Given the description of an element on the screen output the (x, y) to click on. 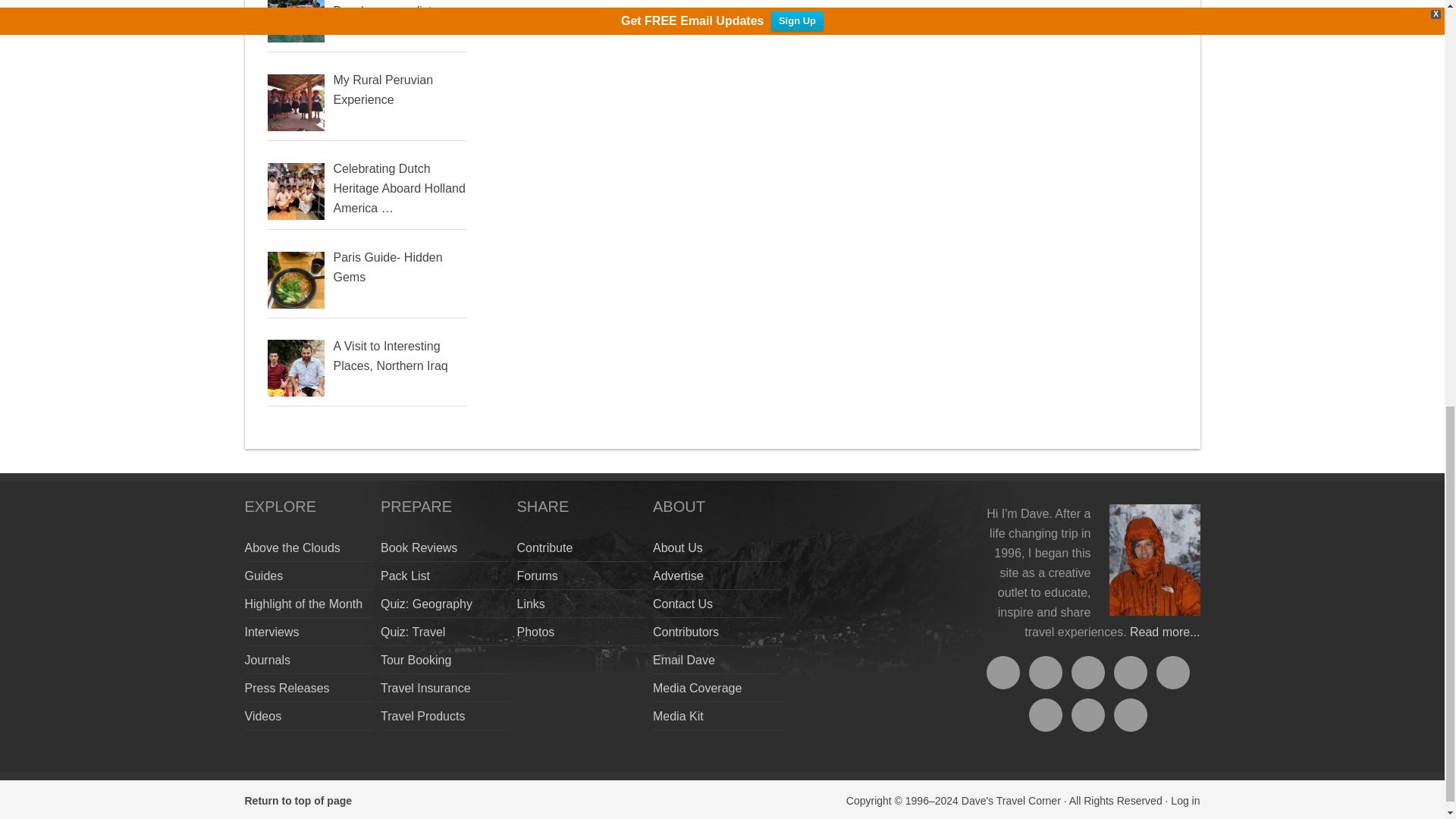
Paris Guide- Hidden Gems (387, 266)
My Rural Peruvian Experience (383, 89)
A Visit to Interesting Places, Northern Iraq (390, 355)
